Given the description of an element on the screen output the (x, y) to click on. 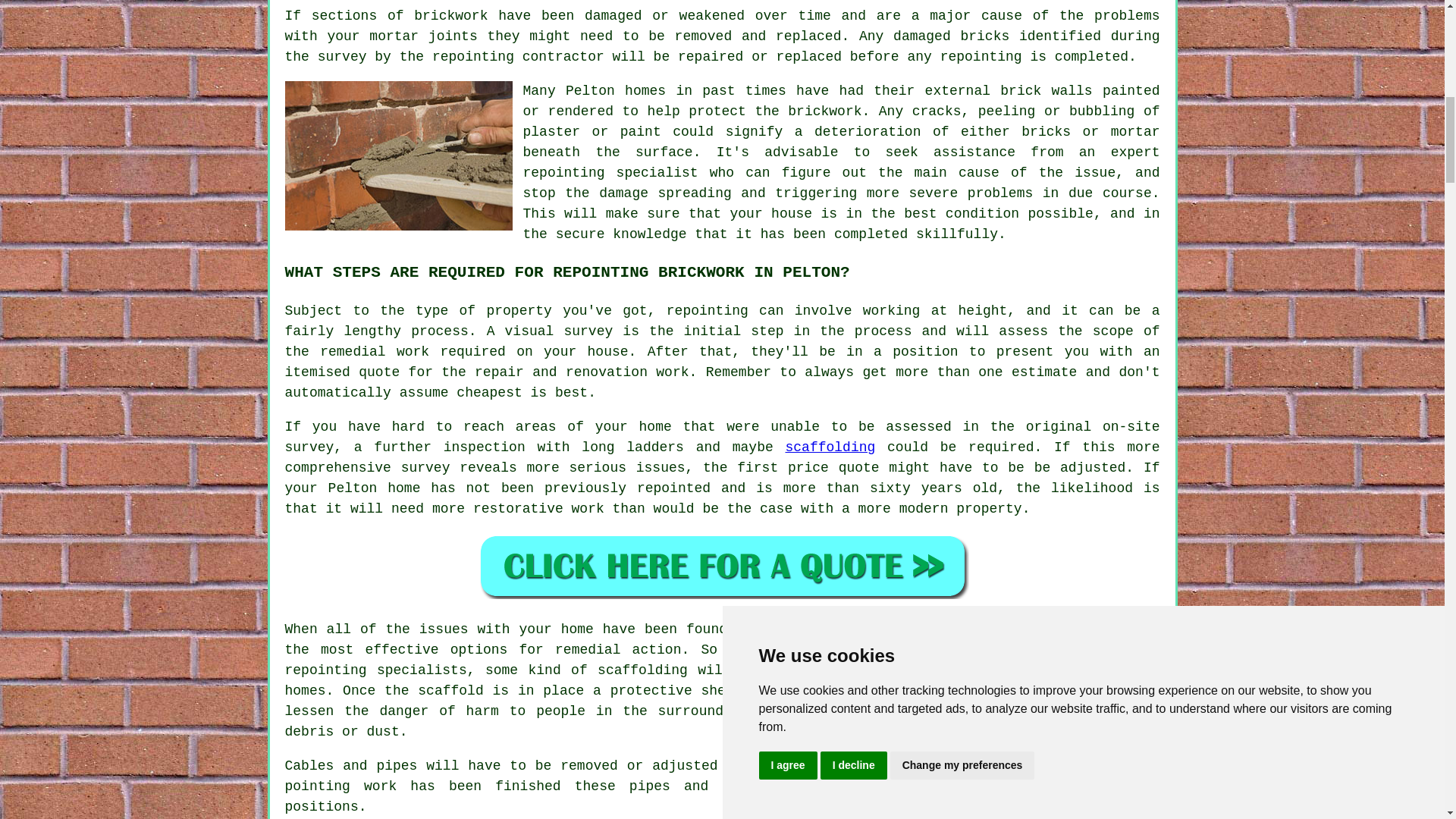
Quotes for Repointing Pelton (722, 565)
brickwork (824, 111)
repointed (673, 488)
repointing (707, 310)
pointing (317, 785)
